Given the description of an element on the screen output the (x, y) to click on. 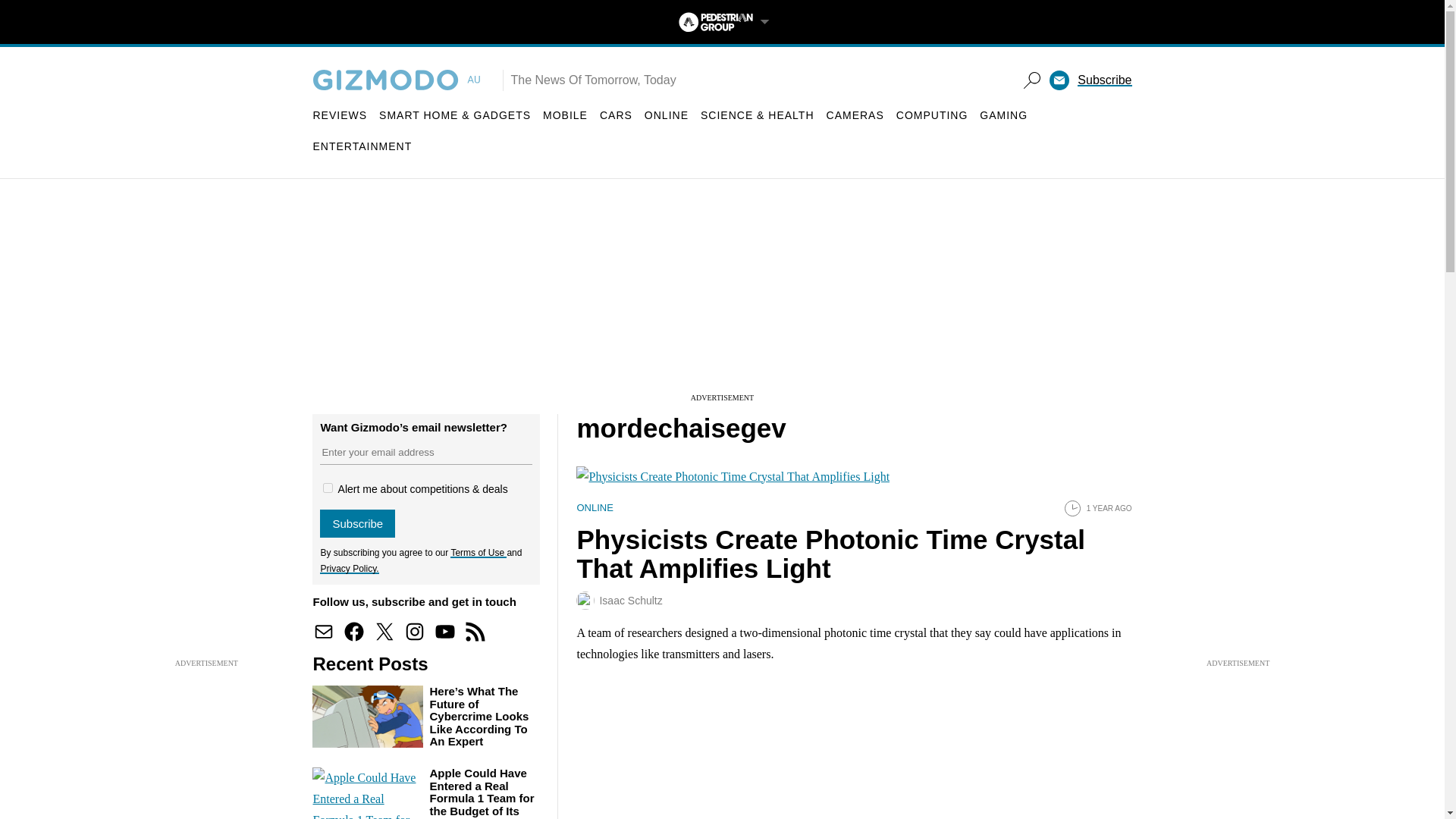
GAMING (1003, 115)
ENTERTAINMENT (362, 145)
MOBILE (565, 115)
CARS (615, 115)
COMPUTING (932, 115)
Subscribe (357, 523)
CAMERAS (855, 115)
REVIEWS (339, 115)
ONLINE (666, 115)
Subscribe (1104, 79)
